Given the description of an element on the screen output the (x, y) to click on. 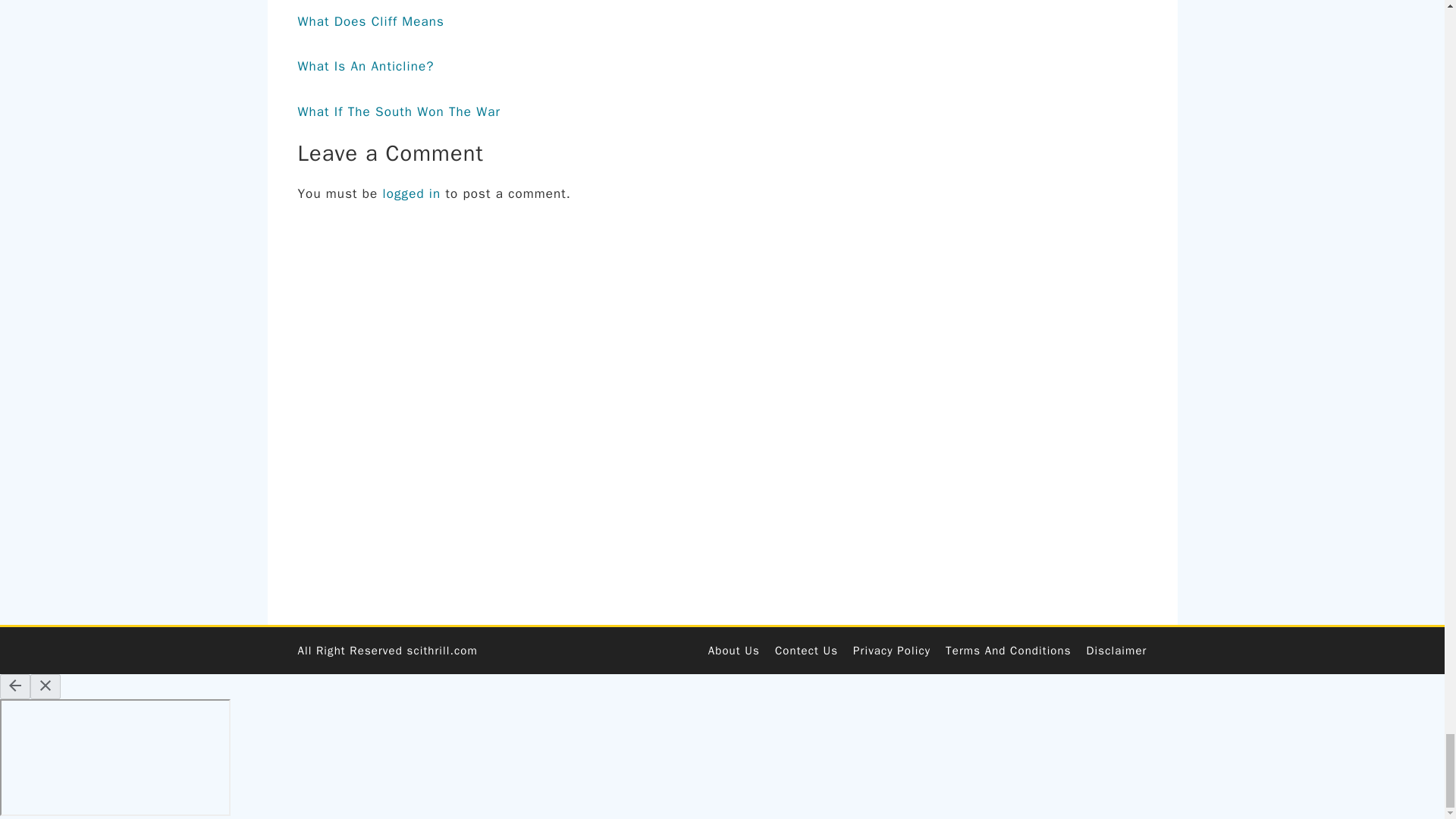
What Is An Anticline? (365, 66)
What Does Cliff Means (370, 21)
logged in (411, 193)
What If The South Won The War (398, 111)
